Given the description of an element on the screen output the (x, y) to click on. 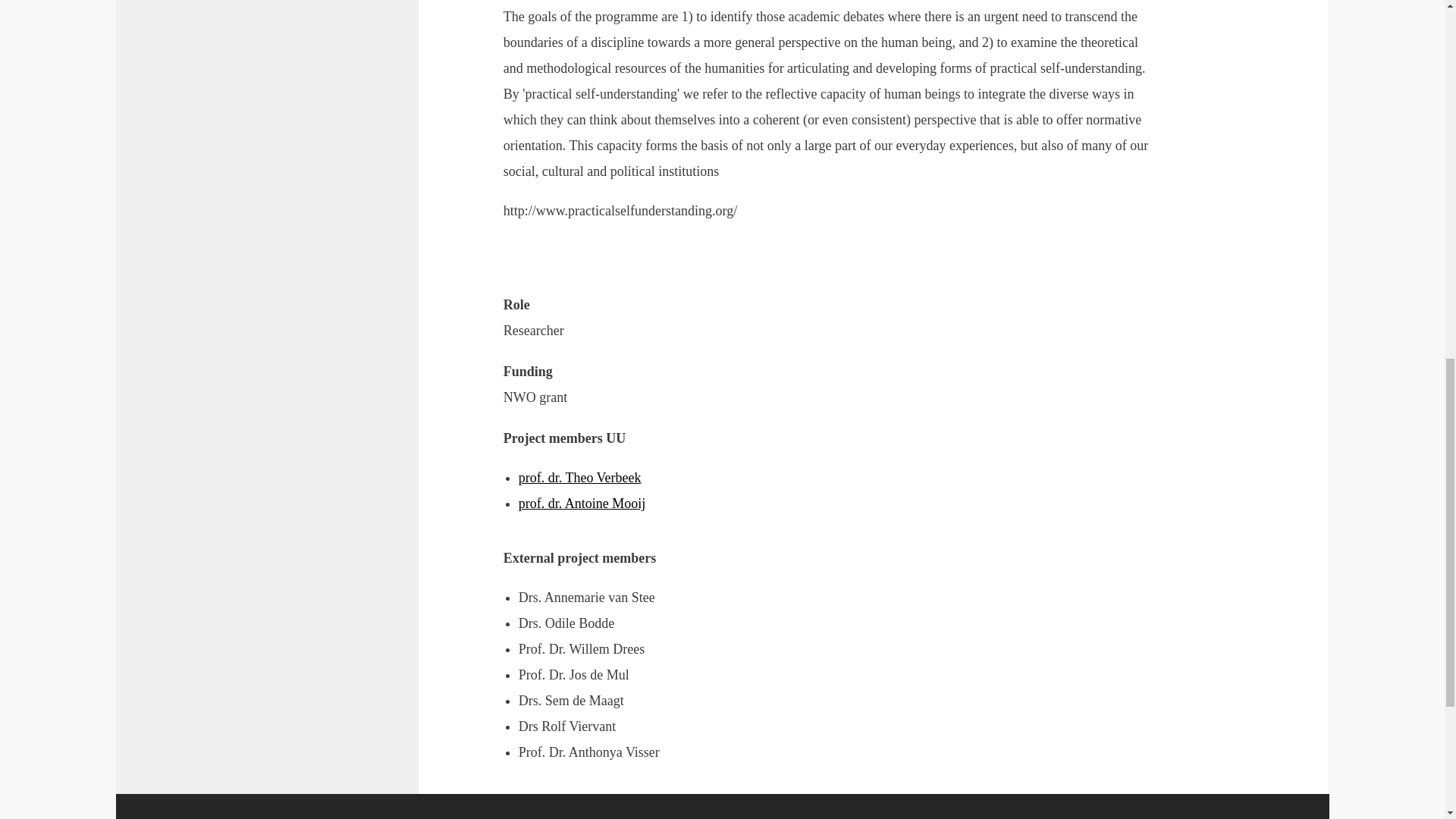
prof. dr. Antoine Mooij (582, 503)
prof. dr. Theo Verbeek (580, 477)
